Given the description of an element on the screen output the (x, y) to click on. 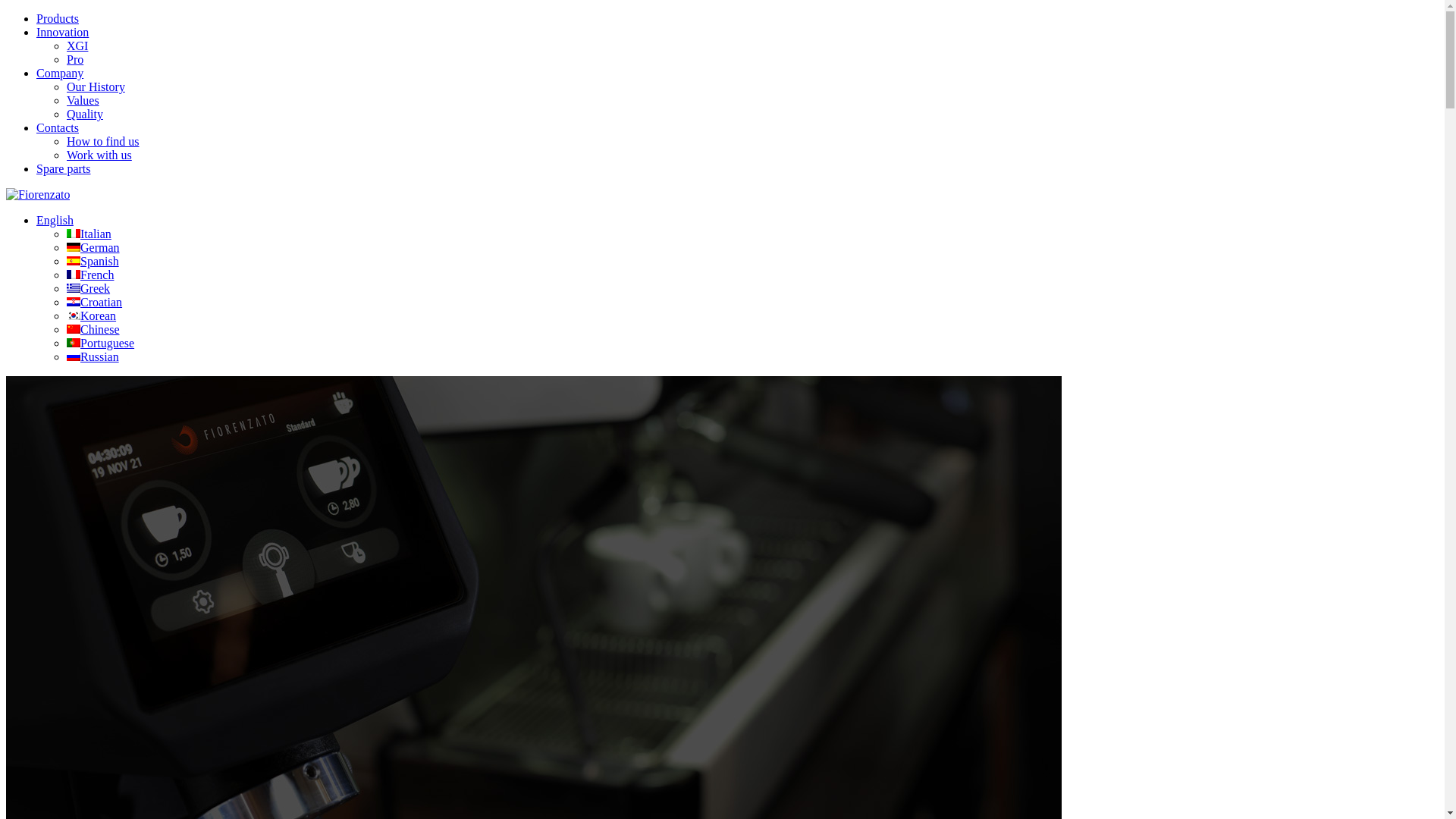
Contacts Element type: text (57, 127)
Italian Element type: text (88, 233)
Products Element type: text (57, 18)
Quality Element type: text (84, 113)
Korean Element type: text (91, 315)
Spare parts Element type: text (63, 168)
French Element type: text (89, 274)
Spanish Element type: text (92, 260)
How to find us Element type: text (102, 140)
Innovation Element type: text (62, 31)
German Element type: text (92, 247)
Company Element type: text (59, 72)
English Element type: text (54, 219)
Greek Element type: text (87, 288)
Chinese Element type: text (92, 329)
Croatian Element type: text (94, 301)
Values Element type: text (82, 100)
Pro Element type: text (74, 59)
Portuguese Element type: text (100, 342)
Our History Element type: text (95, 86)
Work with us Element type: text (98, 154)
XGI Element type: text (76, 45)
Russian Element type: text (92, 356)
